Given the description of an element on the screen output the (x, y) to click on. 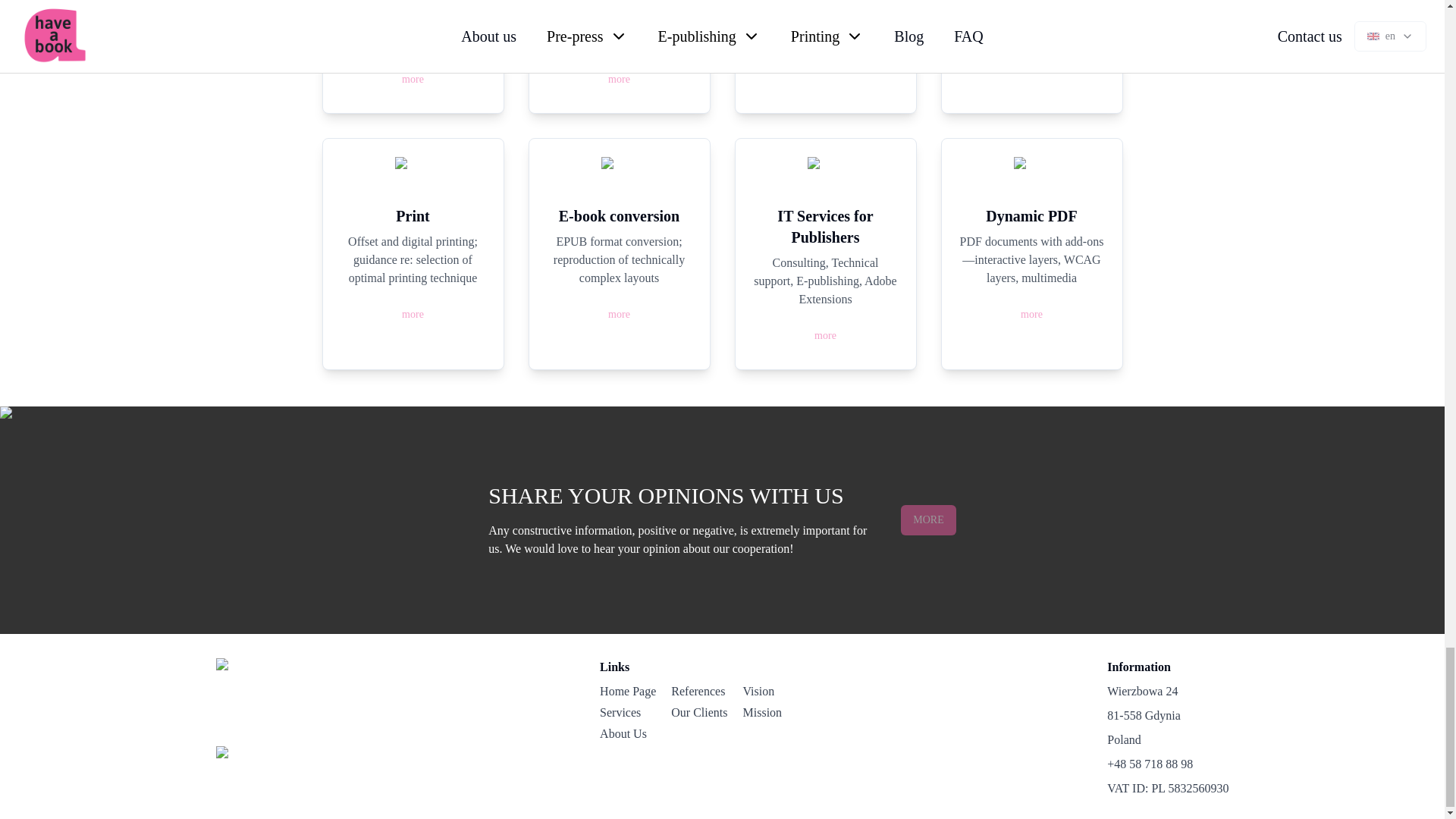
more (825, 334)
more (1031, 314)
more (1031, 313)
Mission (770, 712)
more (618, 79)
more (825, 60)
References (698, 691)
more (412, 79)
MORE (915, 520)
more (618, 78)
